Given the description of an element on the screen output the (x, y) to click on. 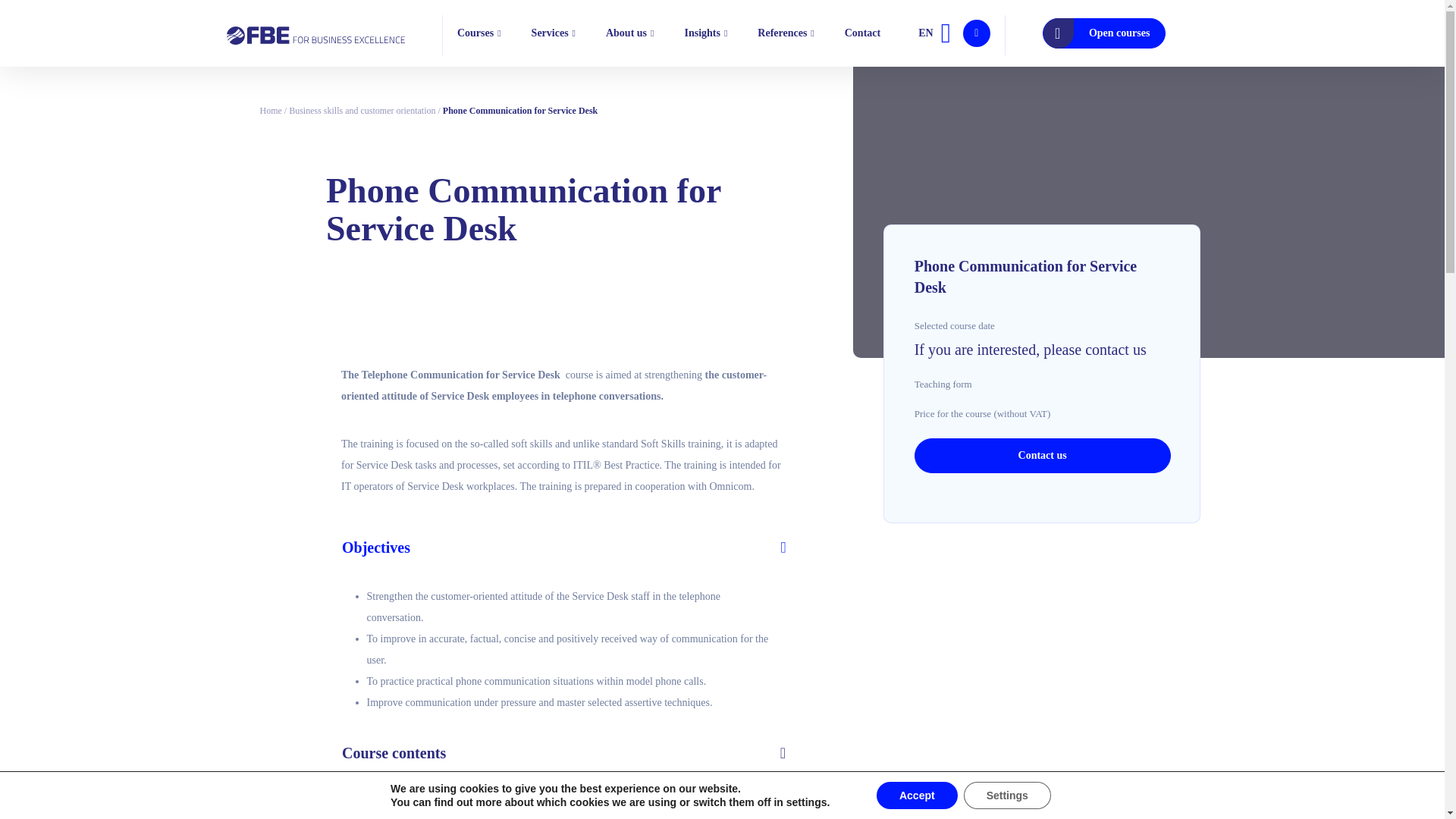
About us (629, 32)
Courses (478, 32)
Services (553, 32)
Courses (478, 32)
Services (553, 32)
